Given the description of an element on the screen output the (x, y) to click on. 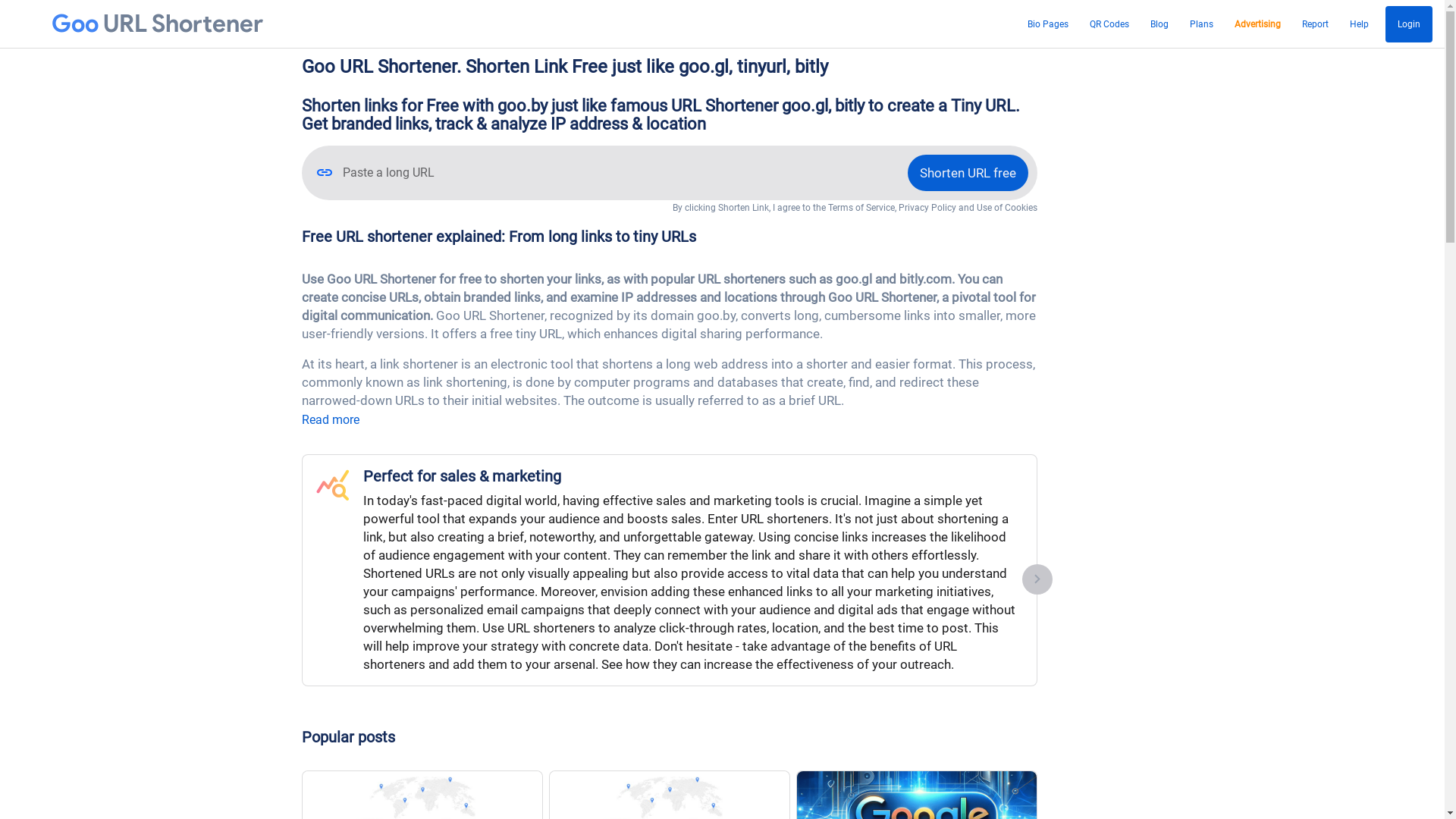
QR Codes Element type: text (1109, 24)
Advertising Element type: text (1257, 24)
Blog Element type: text (1159, 24)
Login Element type: text (1408, 24)
Read more Element type: text (330, 419)
Bio Pages Element type: text (1047, 24)
Plans Element type: text (1201, 24)
Help Element type: text (1359, 24)
Report Element type: text (1315, 24)
Shorten URL free Element type: text (966, 172)
